Given the description of an element on the screen output the (x, y) to click on. 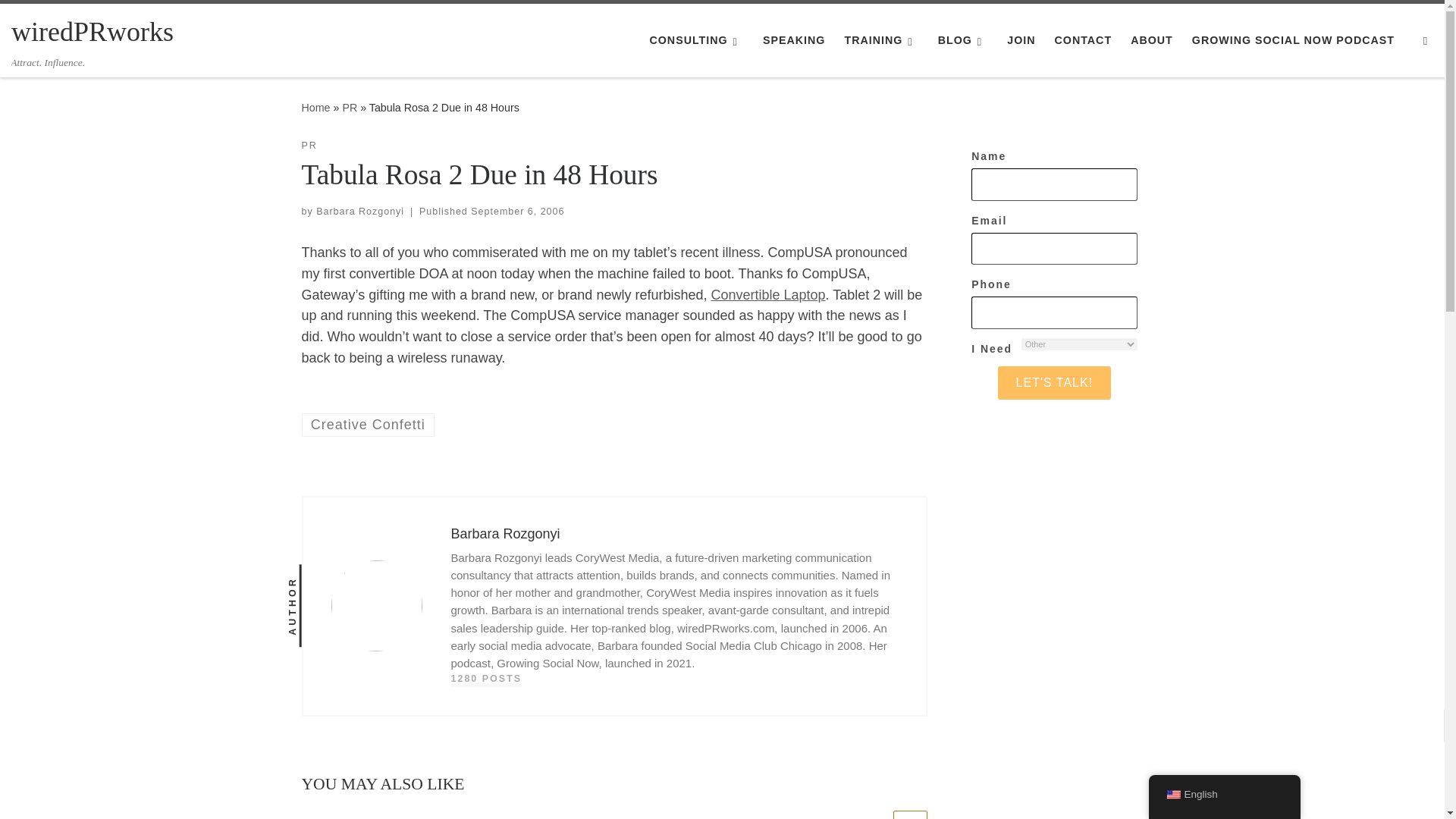
Skip to content (60, 20)
4:23 pm (517, 211)
Speaking (793, 40)
TRAINING (881, 40)
View all posts in PR (309, 145)
SPEAKING (793, 40)
Previous related articles (872, 814)
CONTACT (1082, 40)
wiredPRworks (92, 31)
View all the posts of the author (485, 678)
